Given the description of an element on the screen output the (x, y) to click on. 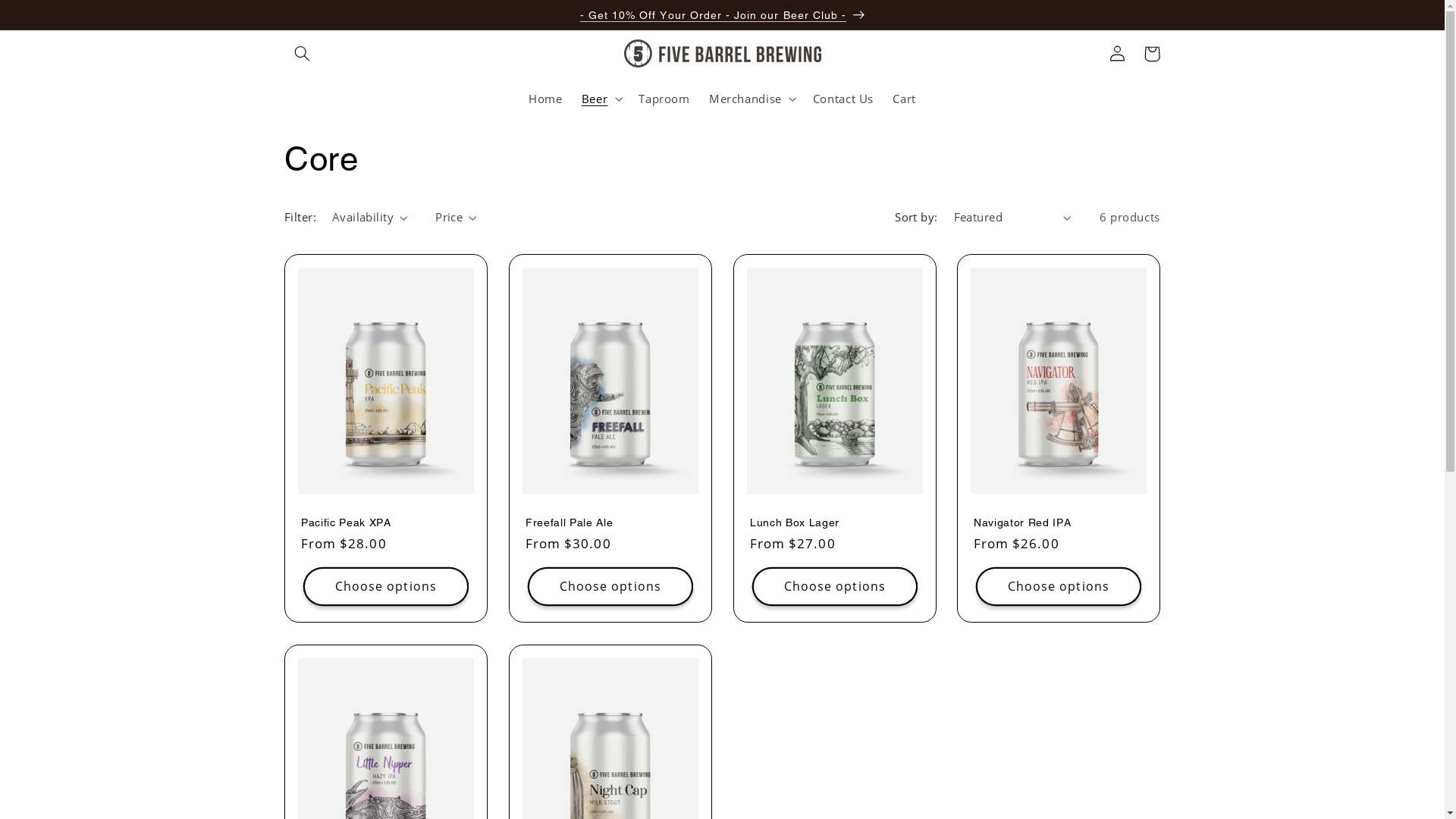
Taproom Element type: text (664, 98)
Freefall Pale Ale Element type: text (610, 522)
Choose options Element type: text (834, 586)
Choose options Element type: text (385, 586)
- Get 10% Off Your Order - Join our Beer Club - Element type: text (722, 14)
Cart Element type: text (1151, 53)
Contact Us Element type: text (843, 98)
Pacific Peak XPA Element type: text (385, 522)
Cart Element type: text (904, 98)
Navigator Red IPA Element type: text (1058, 522)
Lunch Box Lager Element type: text (834, 522)
Choose options Element type: text (1057, 586)
Log in Element type: text (1116, 53)
Home Element type: text (545, 98)
Choose options Element type: text (609, 586)
